Given the description of an element on the screen output the (x, y) to click on. 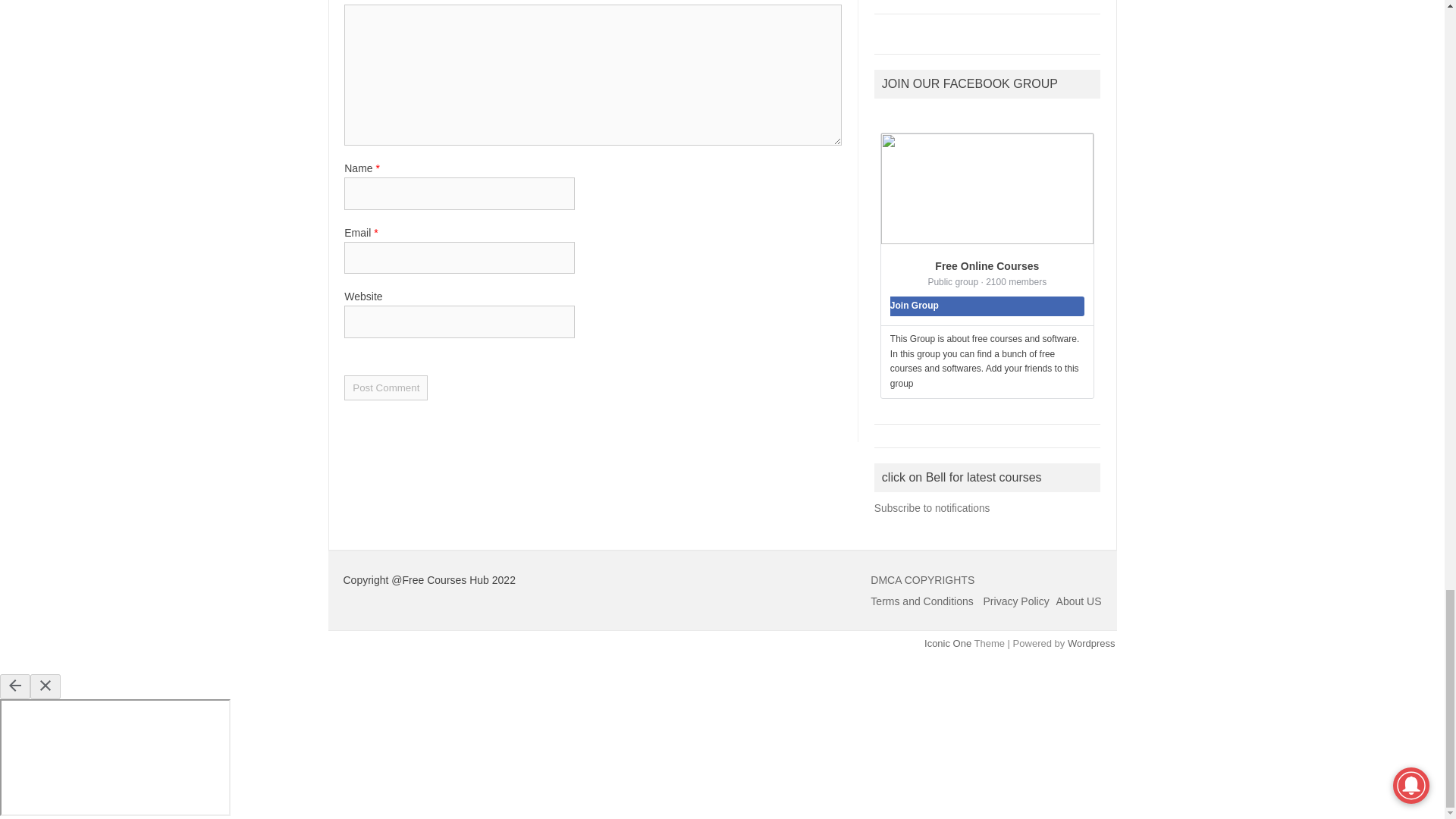
Post Comment (385, 387)
